Given the description of an element on the screen output the (x, y) to click on. 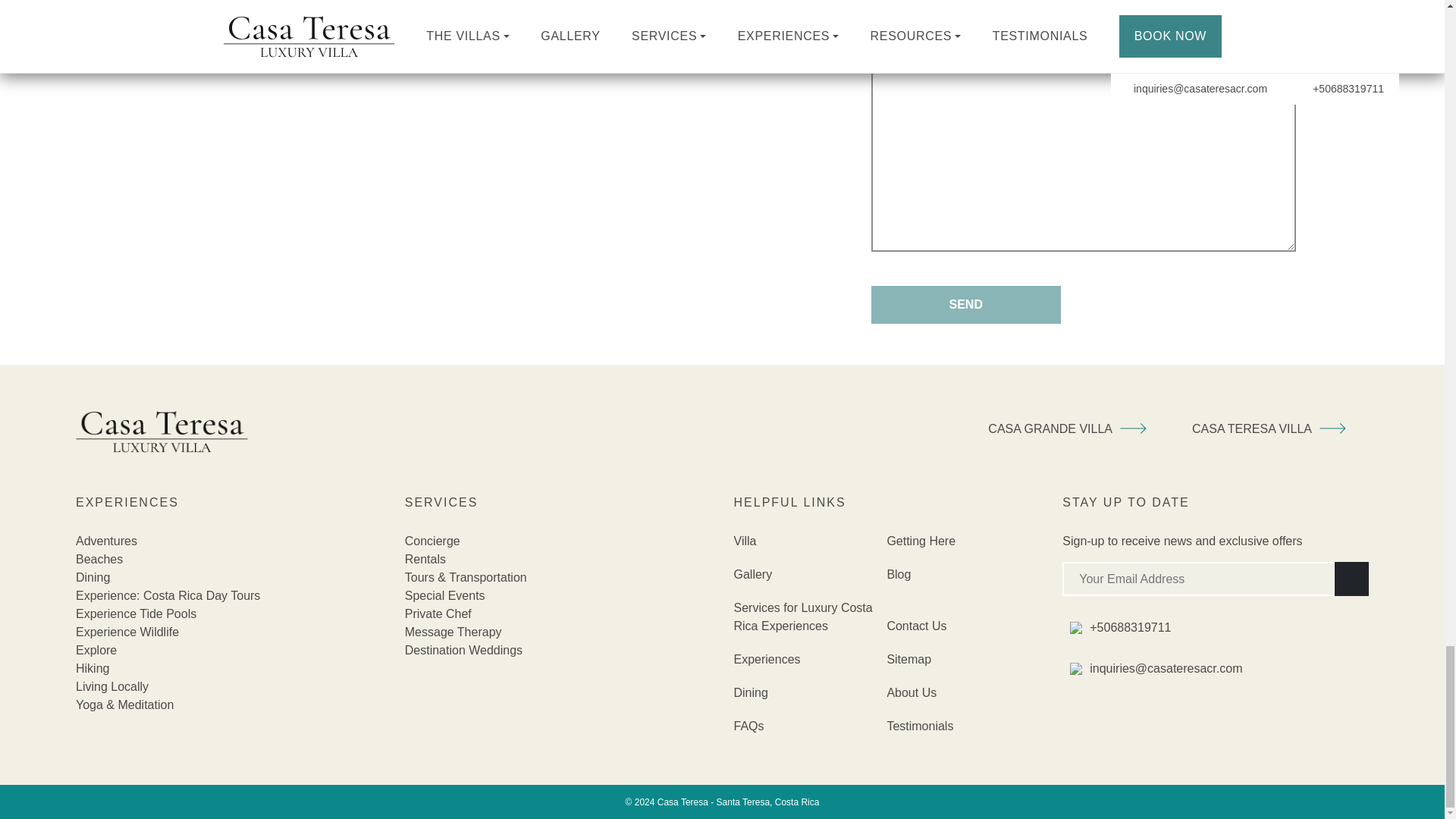
Send (965, 304)
